Given the description of an element on the screen output the (x, y) to click on. 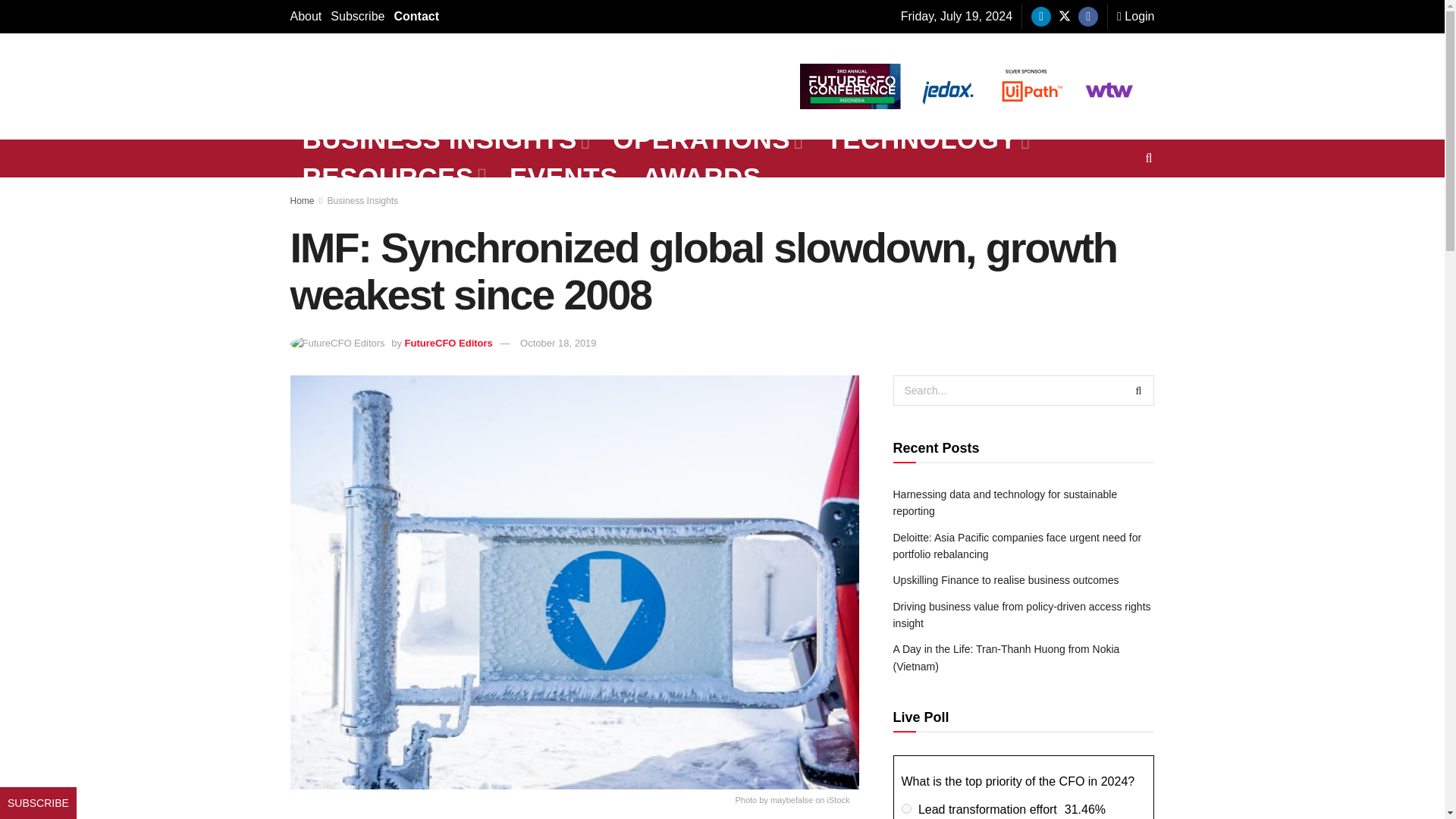
AWARDS (701, 177)
RESOURCES (393, 177)
Contact (416, 16)
OPERATIONS (706, 139)
EVENTS (563, 177)
About (305, 16)
Login (1135, 16)
BUSINESS INSIGHTS (444, 139)
42 (906, 808)
TECHNOLOGY (927, 139)
Subscribe (357, 16)
